Given the description of an element on the screen output the (x, y) to click on. 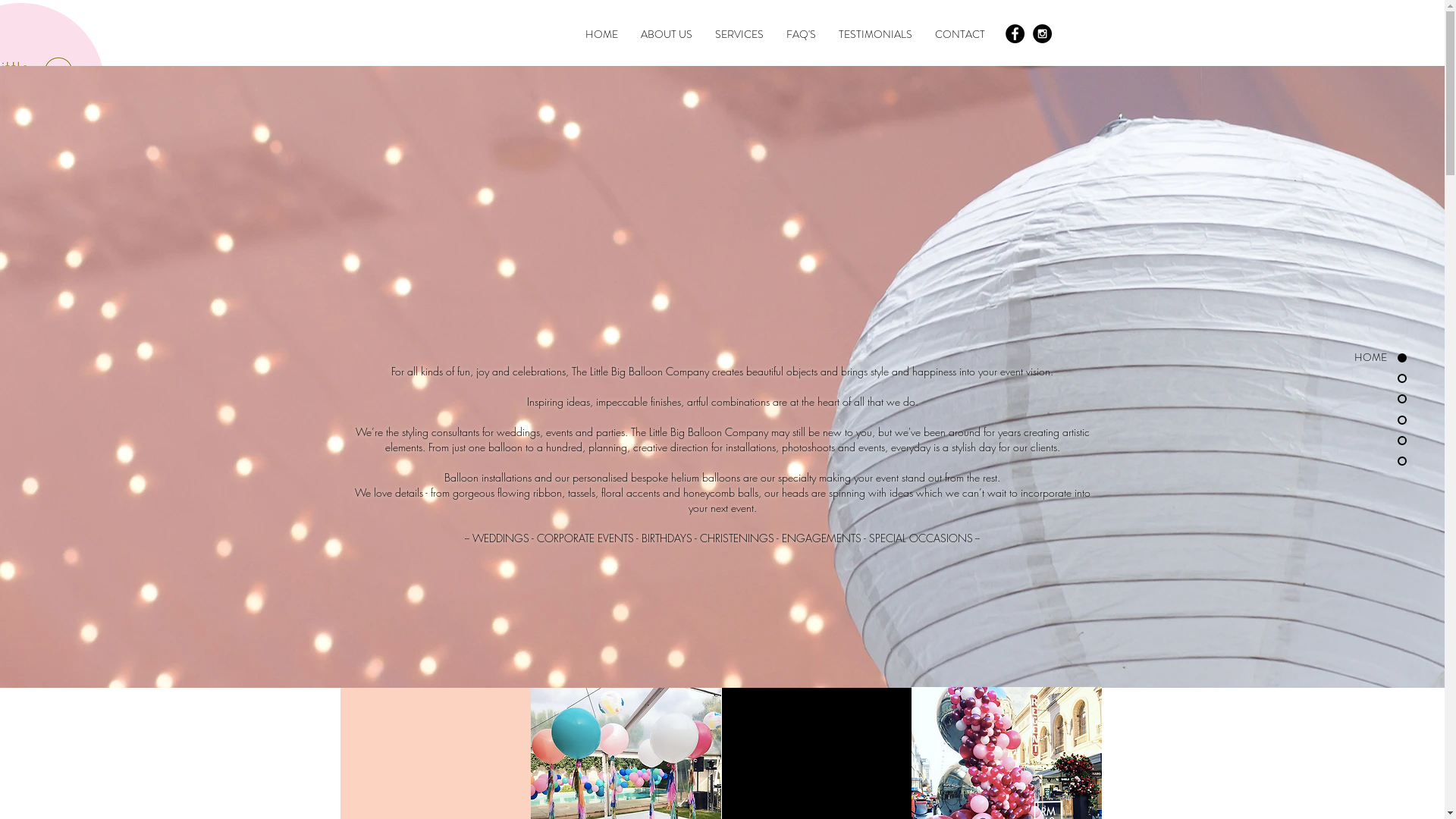
TESTIMONIALS Element type: text (874, 34)
HOME Element type: text (600, 34)
CONTACT Element type: text (959, 34)
SERVICES Element type: text (739, 34)
HOME Element type: text (1323, 357)
ABOUT US Element type: text (666, 34)
FAQ'S Element type: text (801, 34)
